Given the description of an element on the screen output the (x, y) to click on. 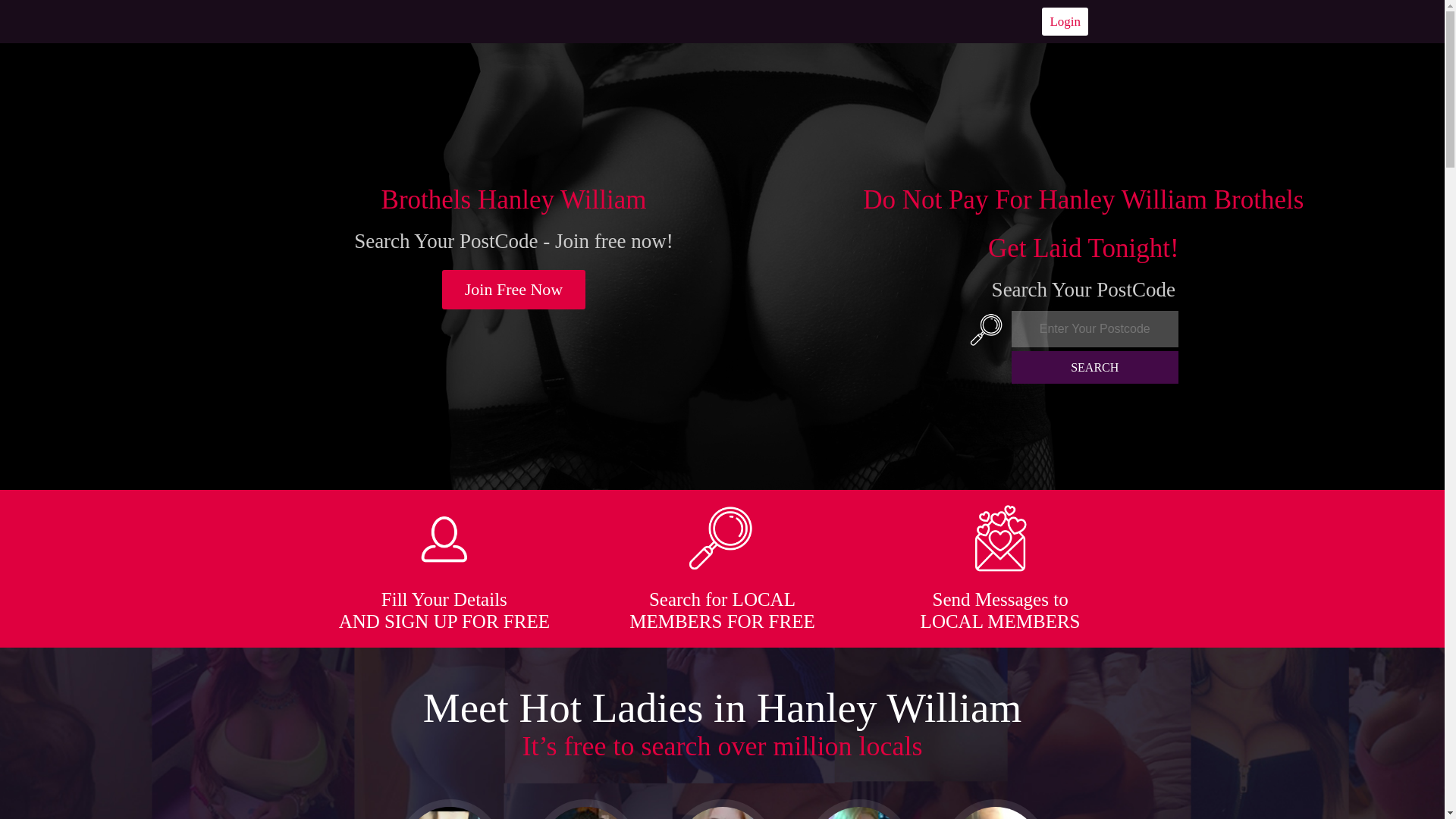
Join (514, 289)
SEARCH (1094, 367)
Login (1064, 21)
Login (1064, 21)
Join Free Now (514, 289)
